Given the description of an element on the screen output the (x, y) to click on. 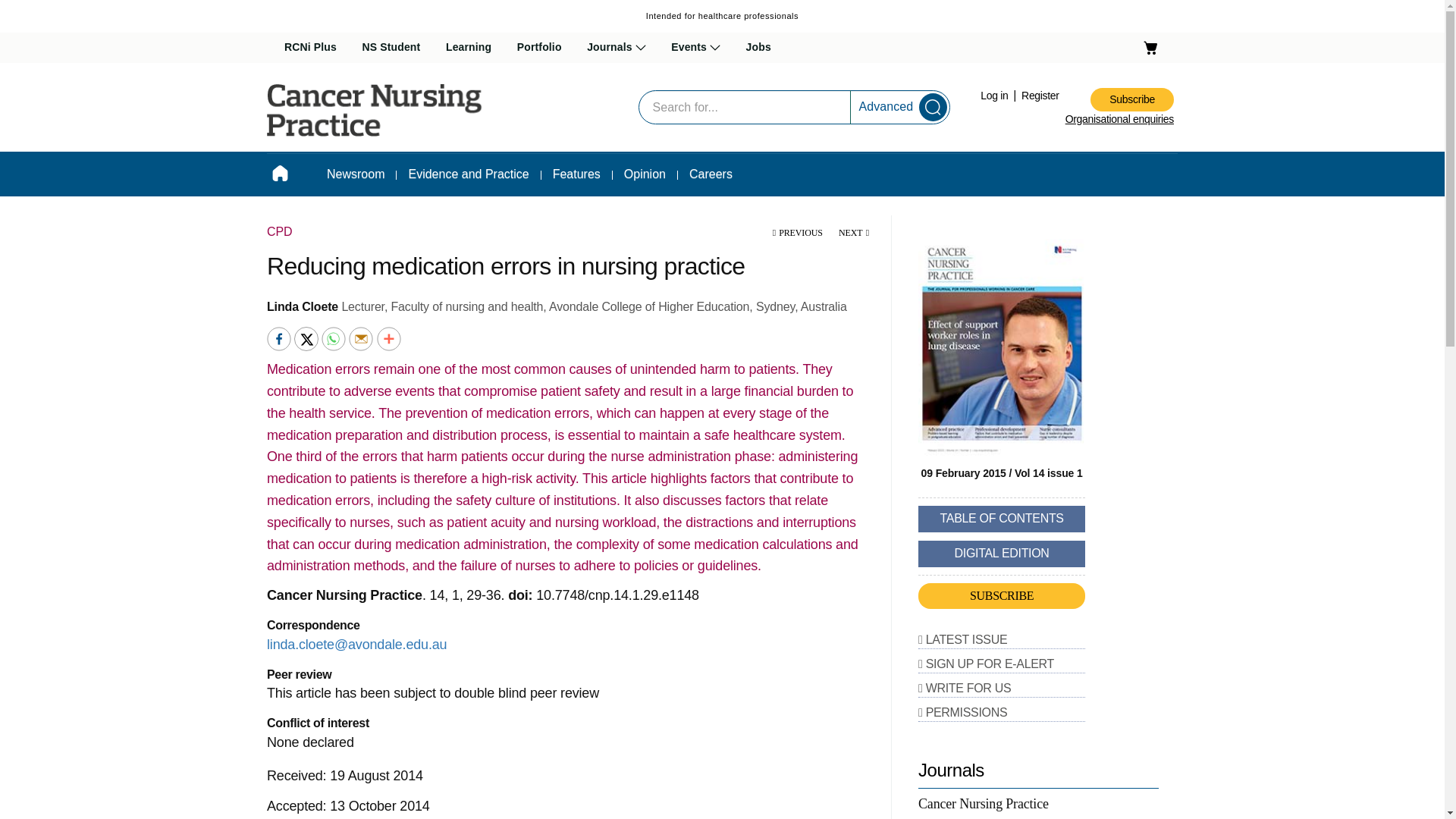
Whatsapp (335, 337)
Learning (468, 47)
Newsroom (355, 174)
Events (695, 47)
RCNi Plus (309, 47)
X (307, 337)
Register (1040, 95)
Subscribe (1131, 99)
Log in (994, 95)
Evidence and Practice (468, 174)
